Given the description of an element on the screen output the (x, y) to click on. 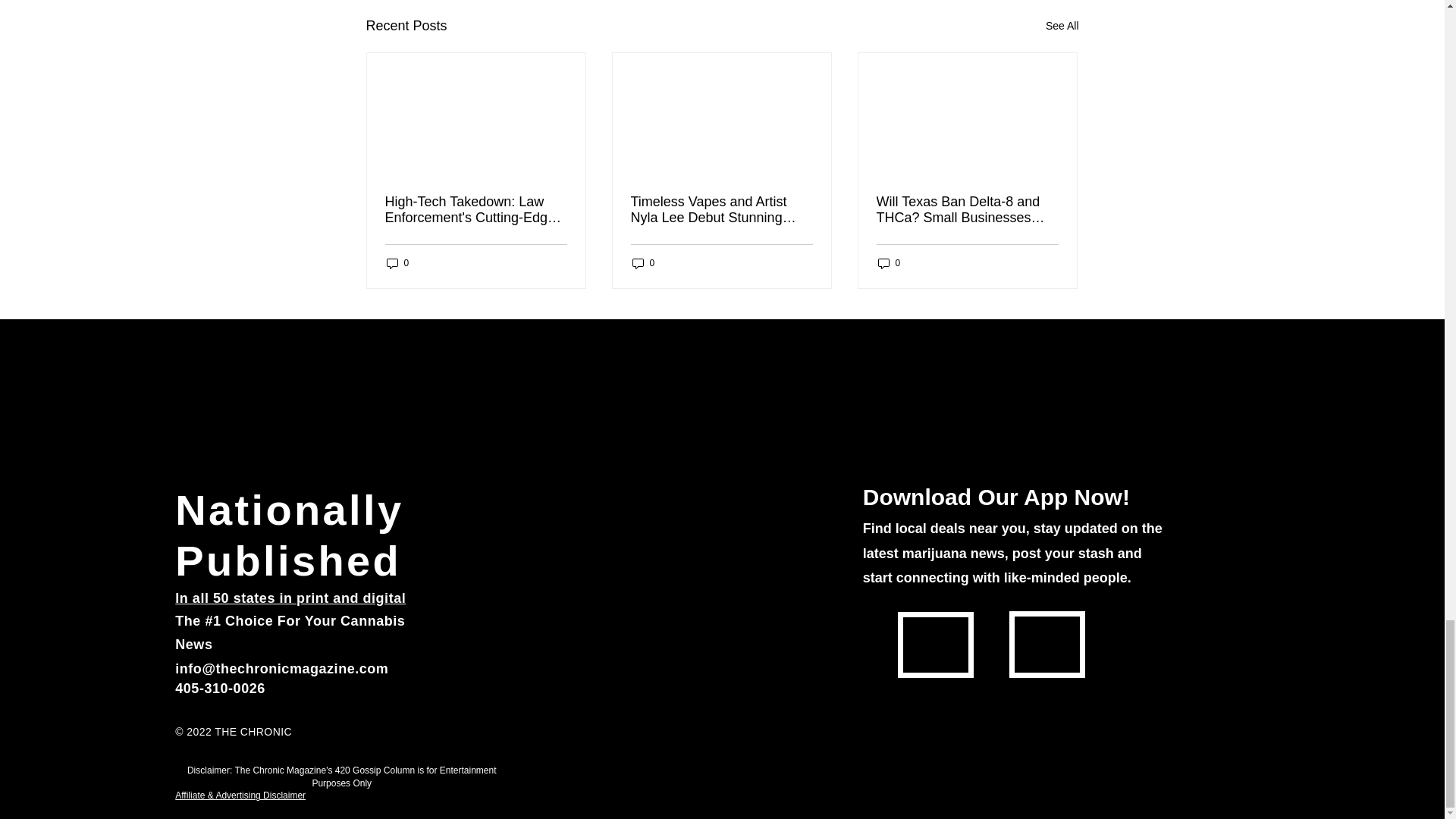
See All (1061, 25)
0 (889, 263)
0 (397, 263)
0 (643, 263)
